Given the description of an element on the screen output the (x, y) to click on. 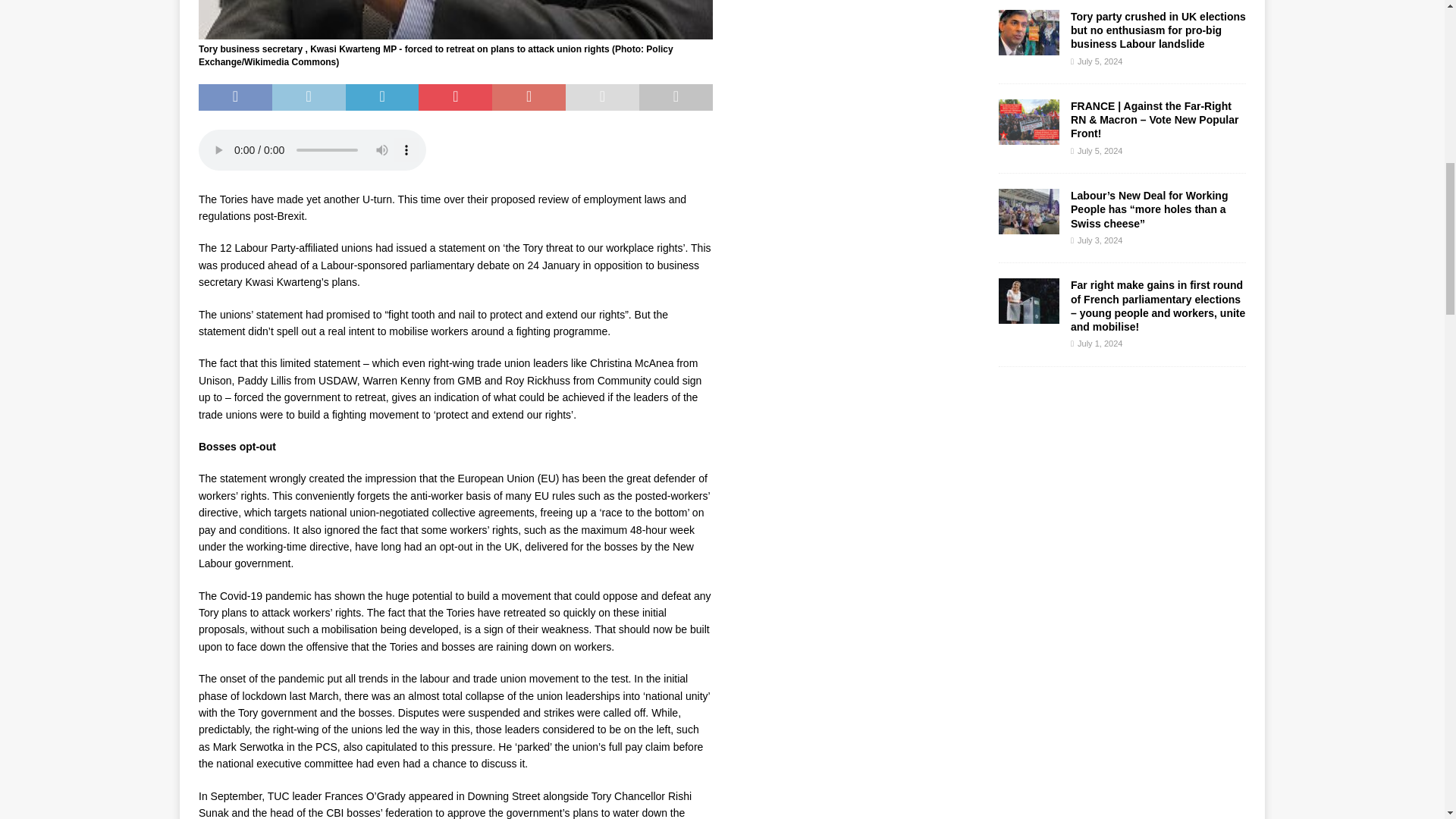
Kwasi Kwarteng (455, 20)
